Given the description of an element on the screen output the (x, y) to click on. 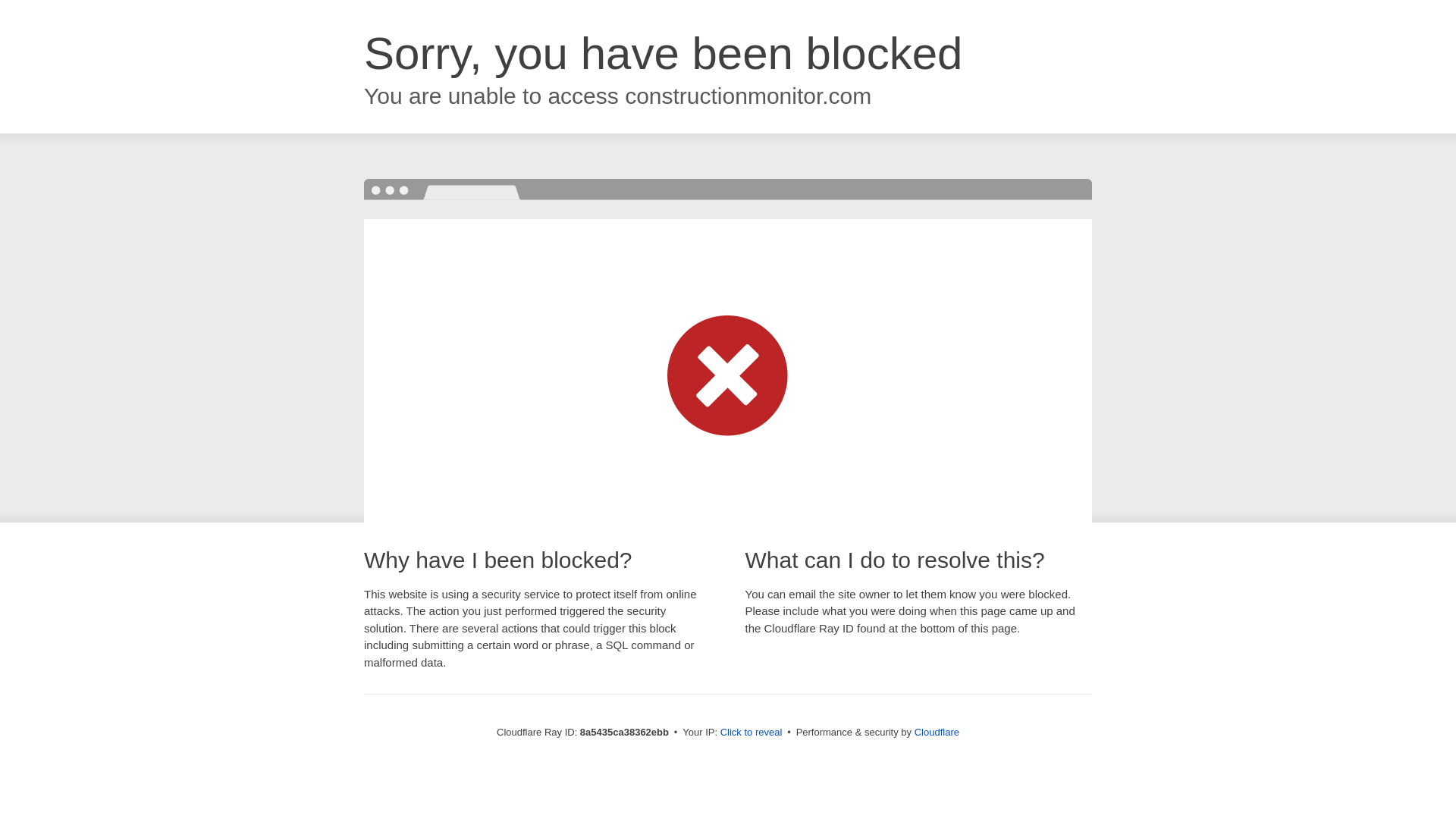
Click to reveal (751, 732)
Cloudflare (936, 731)
